Given the description of an element on the screen output the (x, y) to click on. 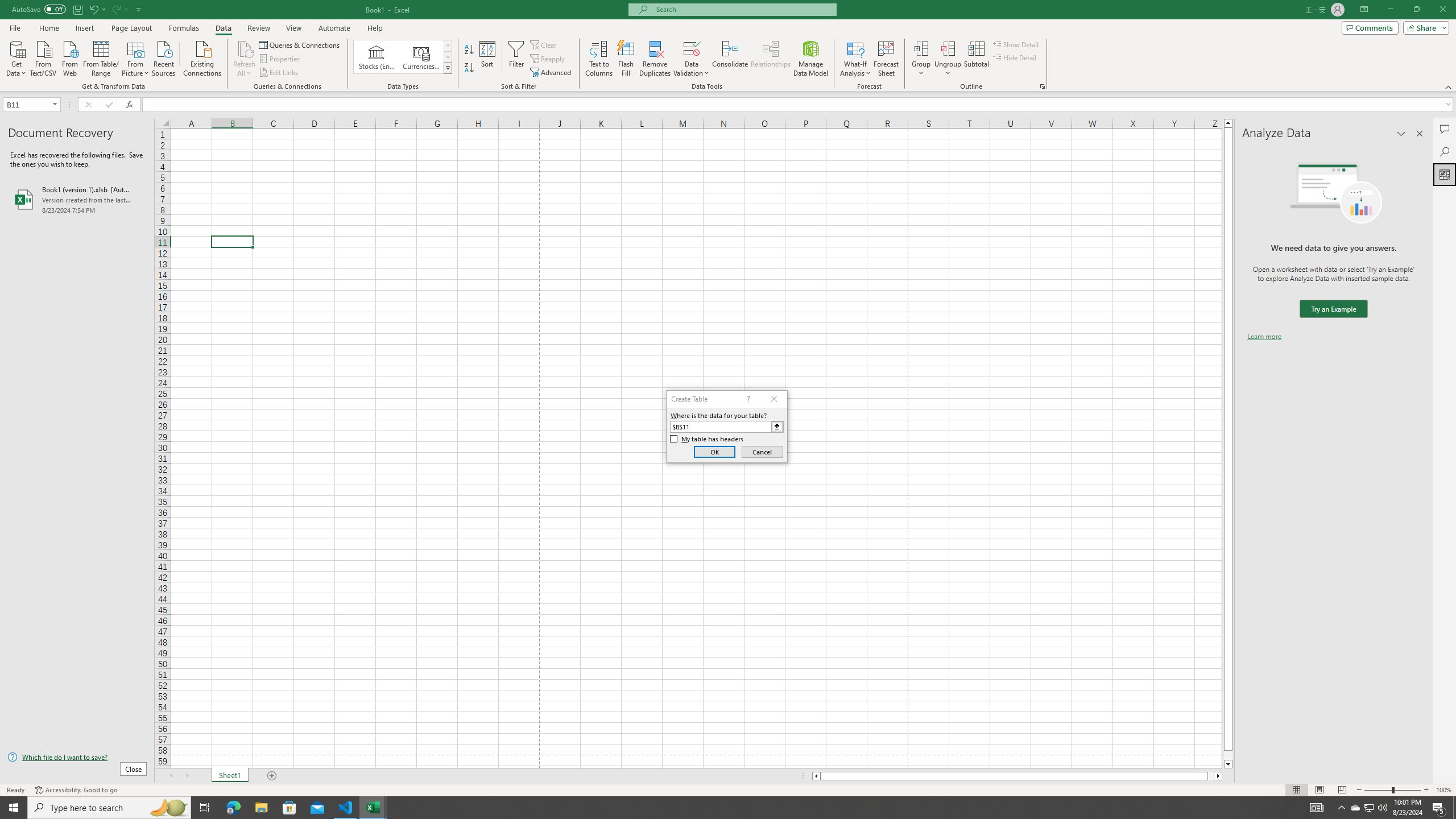
Clear (544, 44)
Manage Data Model (810, 58)
